Given the description of an element on the screen output the (x, y) to click on. 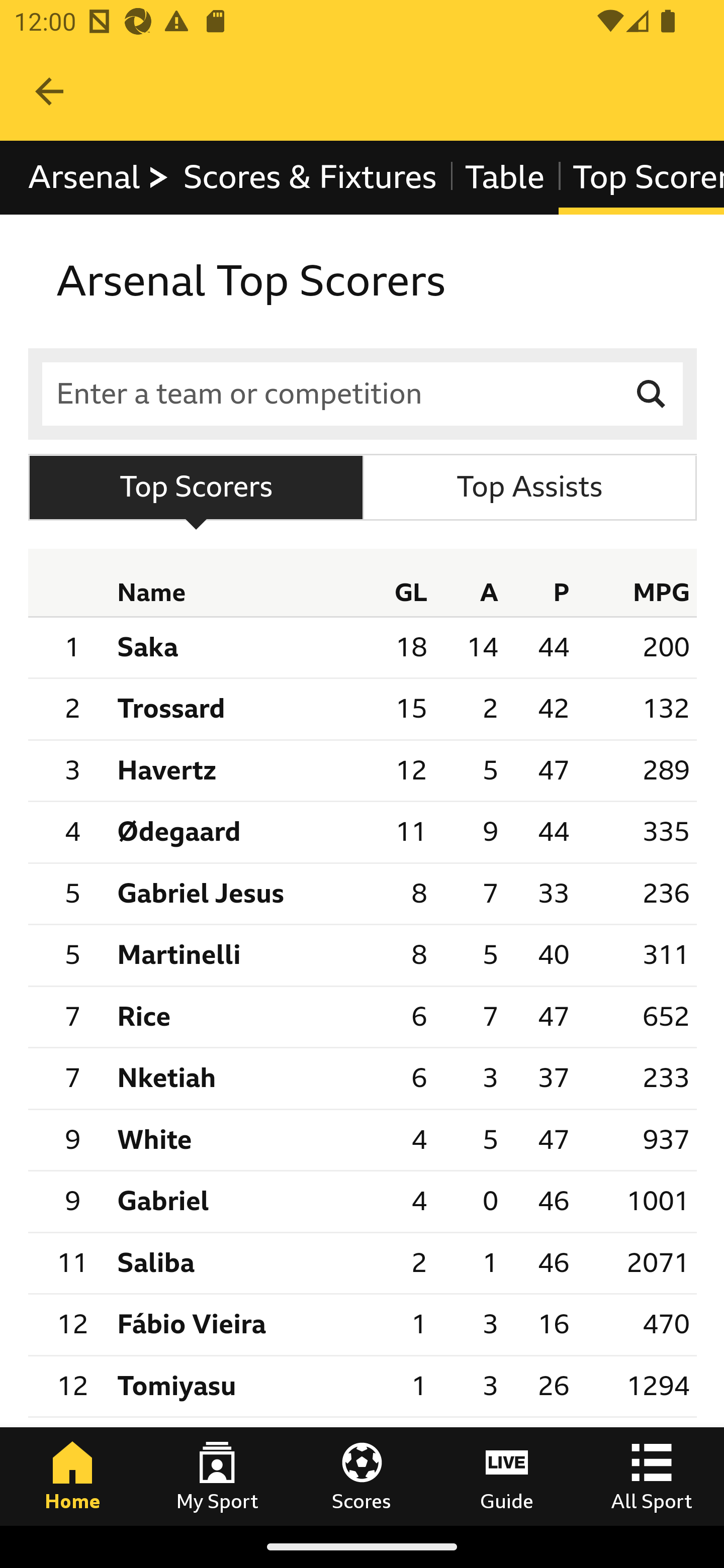
Navigate up (49, 91)
Arsenal  (99, 177)
Scores & Fixtures (309, 177)
Table (504, 177)
Search (651, 393)
Top Scorers (196, 486)
Top Assists (529, 486)
My Sport (216, 1475)
Scores (361, 1475)
Guide (506, 1475)
All Sport (651, 1475)
